Given the description of an element on the screen output the (x, y) to click on. 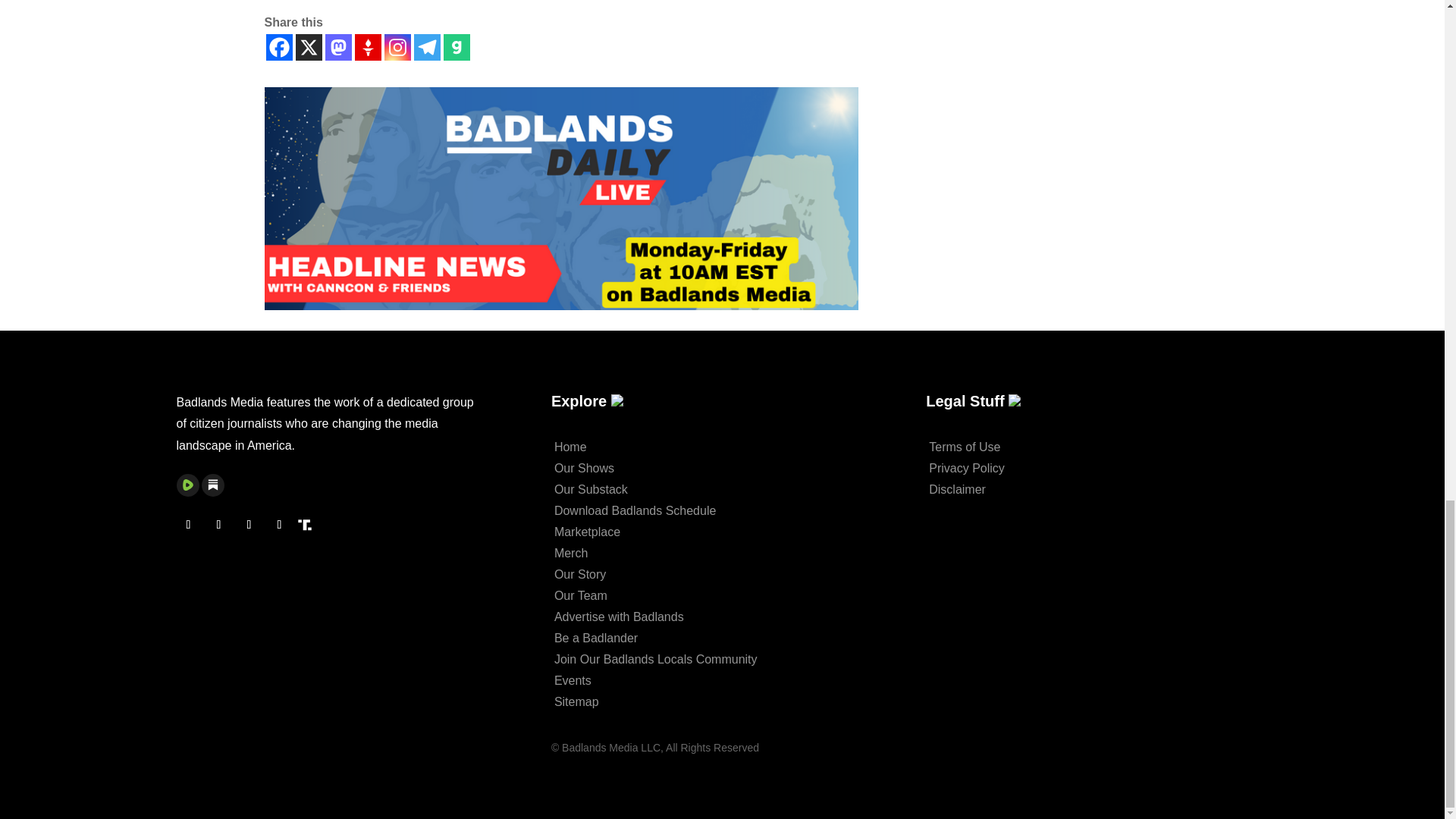
Gab (455, 47)
Instagram (397, 47)
X (308, 47)
Facebook (278, 47)
Badlands Daily v2 (560, 198)
Gettr (368, 47)
Mastodon (337, 47)
Telegram (427, 47)
